Given the description of an element on the screen output the (x, y) to click on. 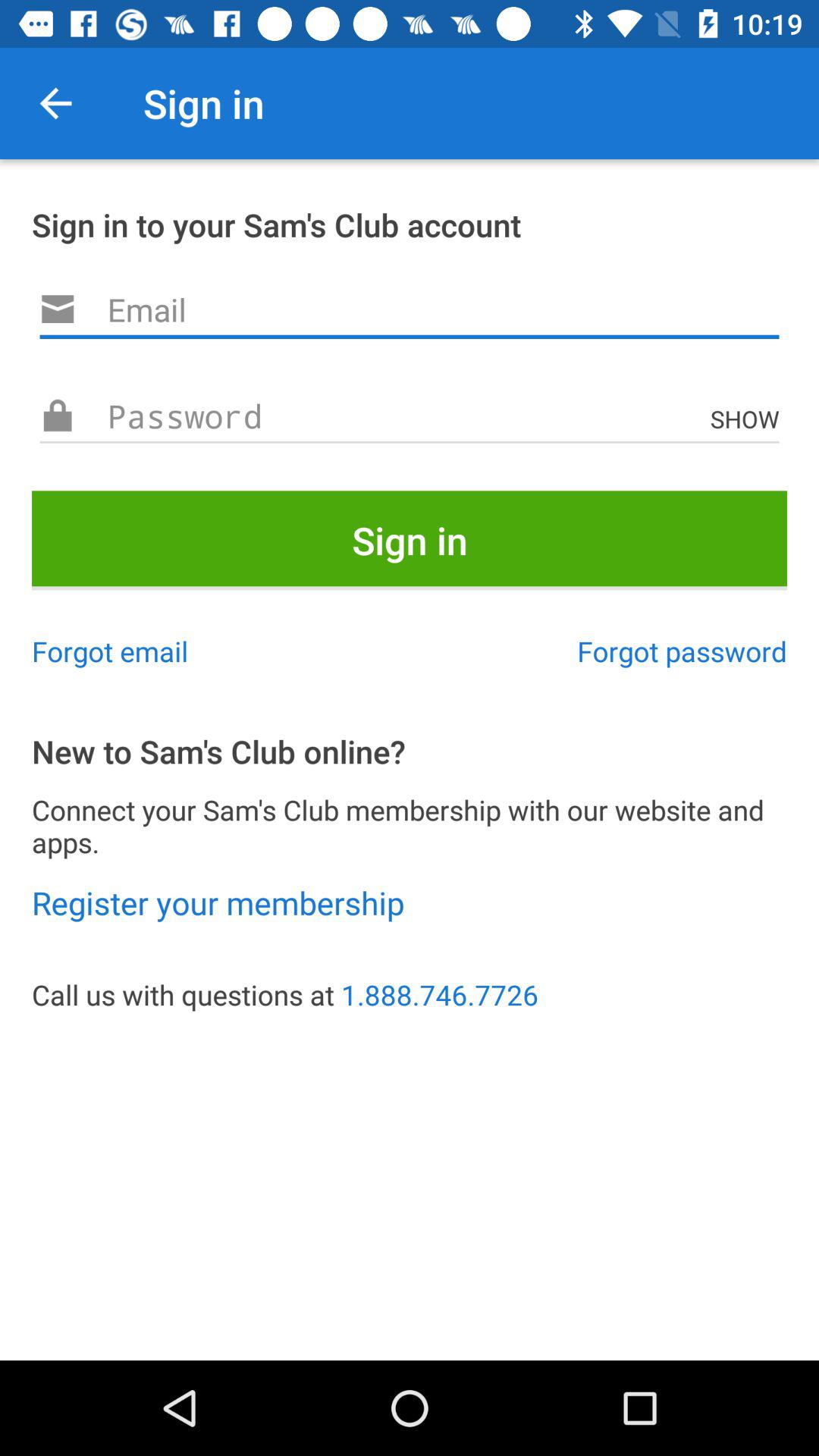
press the icon to the right of the forgot email (682, 650)
